Given the description of an element on the screen output the (x, y) to click on. 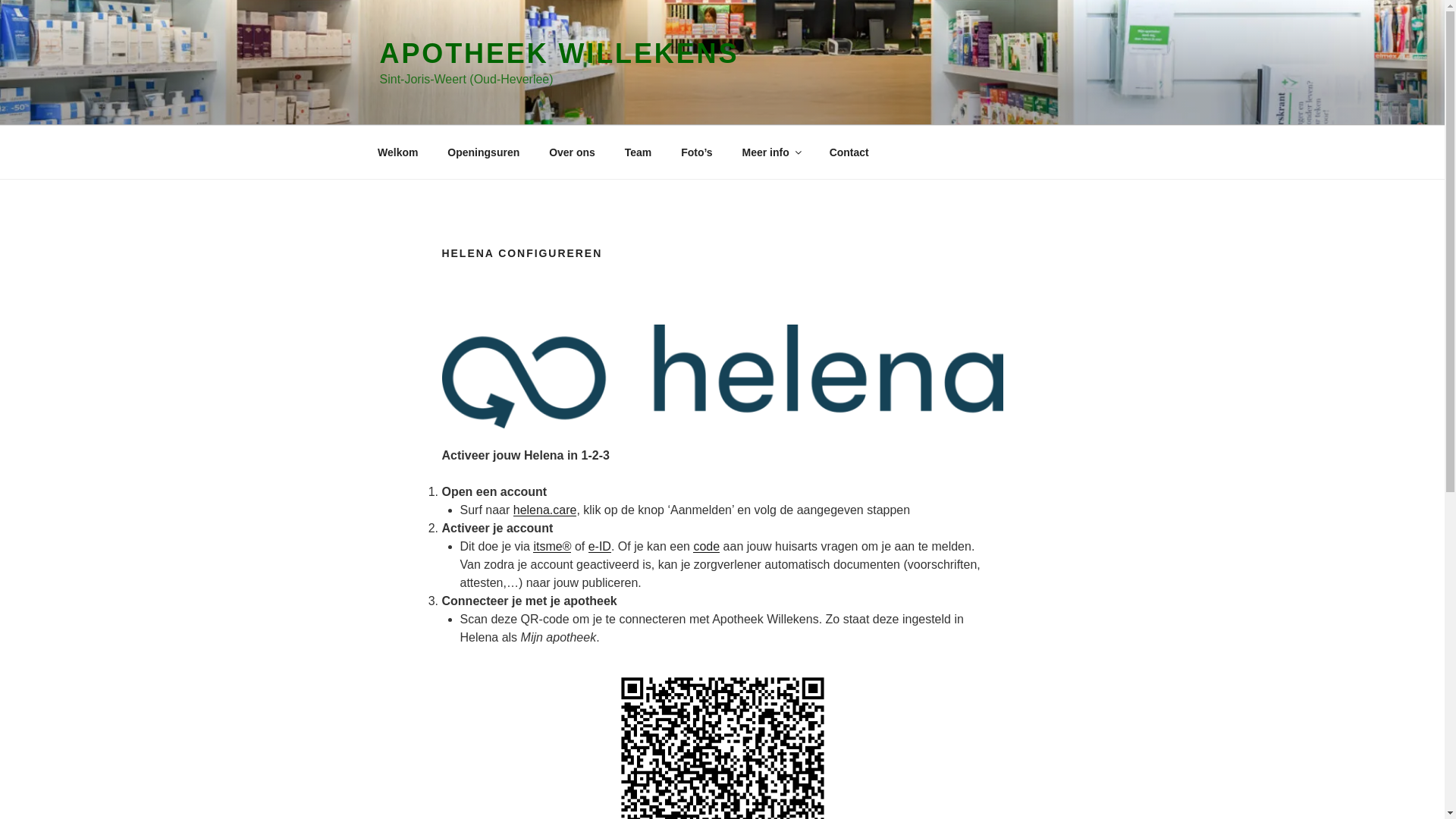
Over ons Element type: text (572, 151)
helena.care Element type: text (545, 509)
Meer info Element type: text (770, 151)
e-ID Element type: text (599, 545)
code Element type: text (706, 545)
Openingsuren Element type: text (483, 151)
Welkom Element type: text (397, 151)
Team Element type: text (638, 151)
Contact Element type: text (848, 151)
APOTHEEK WILLEKENS Element type: text (558, 53)
